Given the description of an element on the screen output the (x, y) to click on. 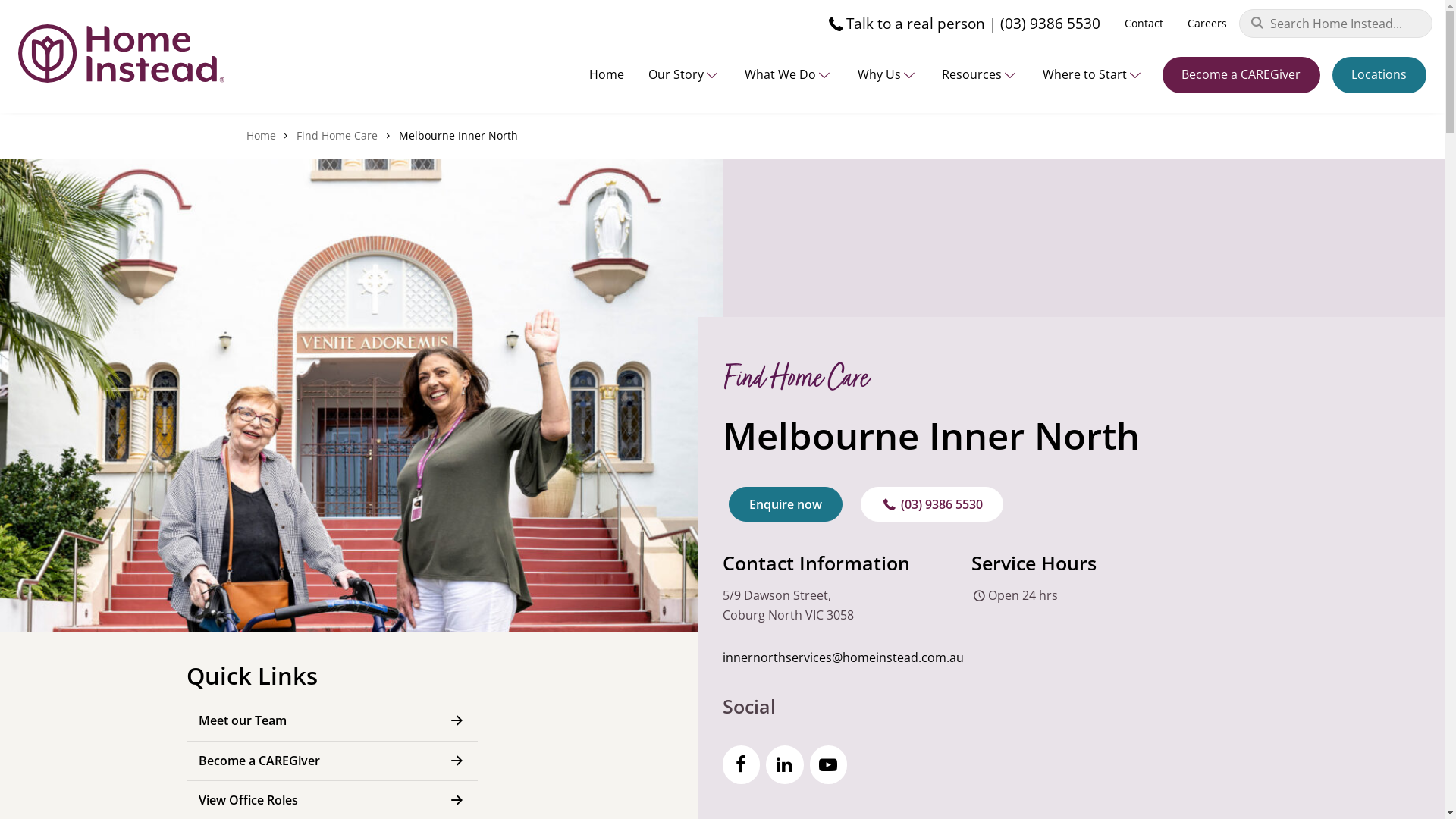
Our Story Element type: text (684, 74)
Where to Start Element type: text (1092, 74)
Careers Element type: text (1207, 23)
Why Us Element type: text (886, 74)
Home Element type: text (606, 74)
Talk to a real person | (03) 9386 5530 Element type: text (962, 23)
Contact Element type: text (1143, 23)
Resources Element type: text (979, 74)
(03) 9386 5530 Element type: text (930, 503)
Become a CAREGiver Element type: text (1241, 75)
Locations Element type: text (1379, 75)
Become a CAREGiver Element type: text (331, 760)
Meet our Team Element type: text (331, 720)
What We Do Element type: text (788, 74)
Find Home Care Element type: text (336, 135)
Enquire now Element type: text (784, 503)
Home Element type: text (260, 135)
innernorthservices@homeinstead.com.au Element type: text (842, 657)
